Given the description of an element on the screen output the (x, y) to click on. 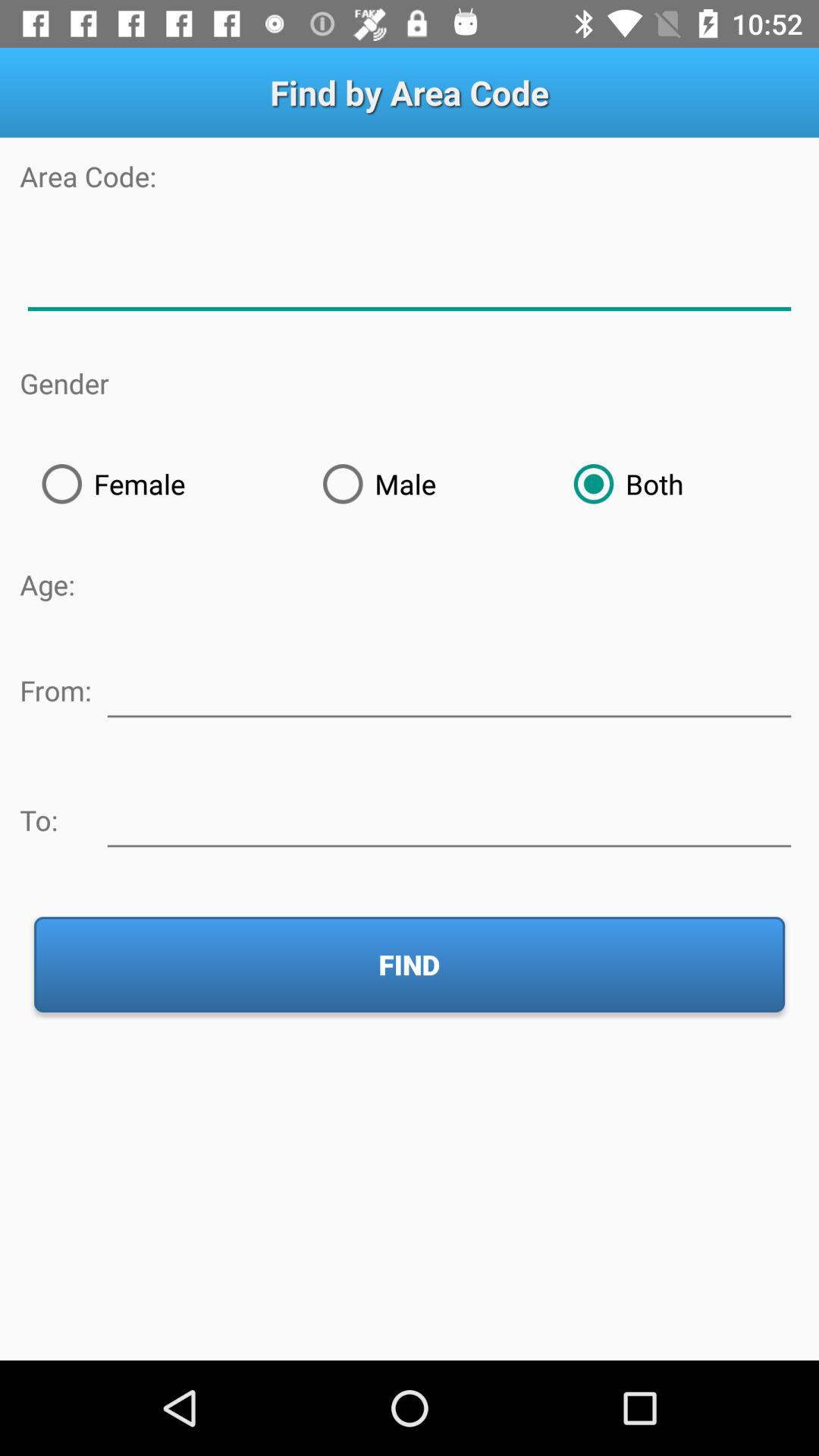
enter lowest age (449, 688)
